Given the description of an element on the screen output the (x, y) to click on. 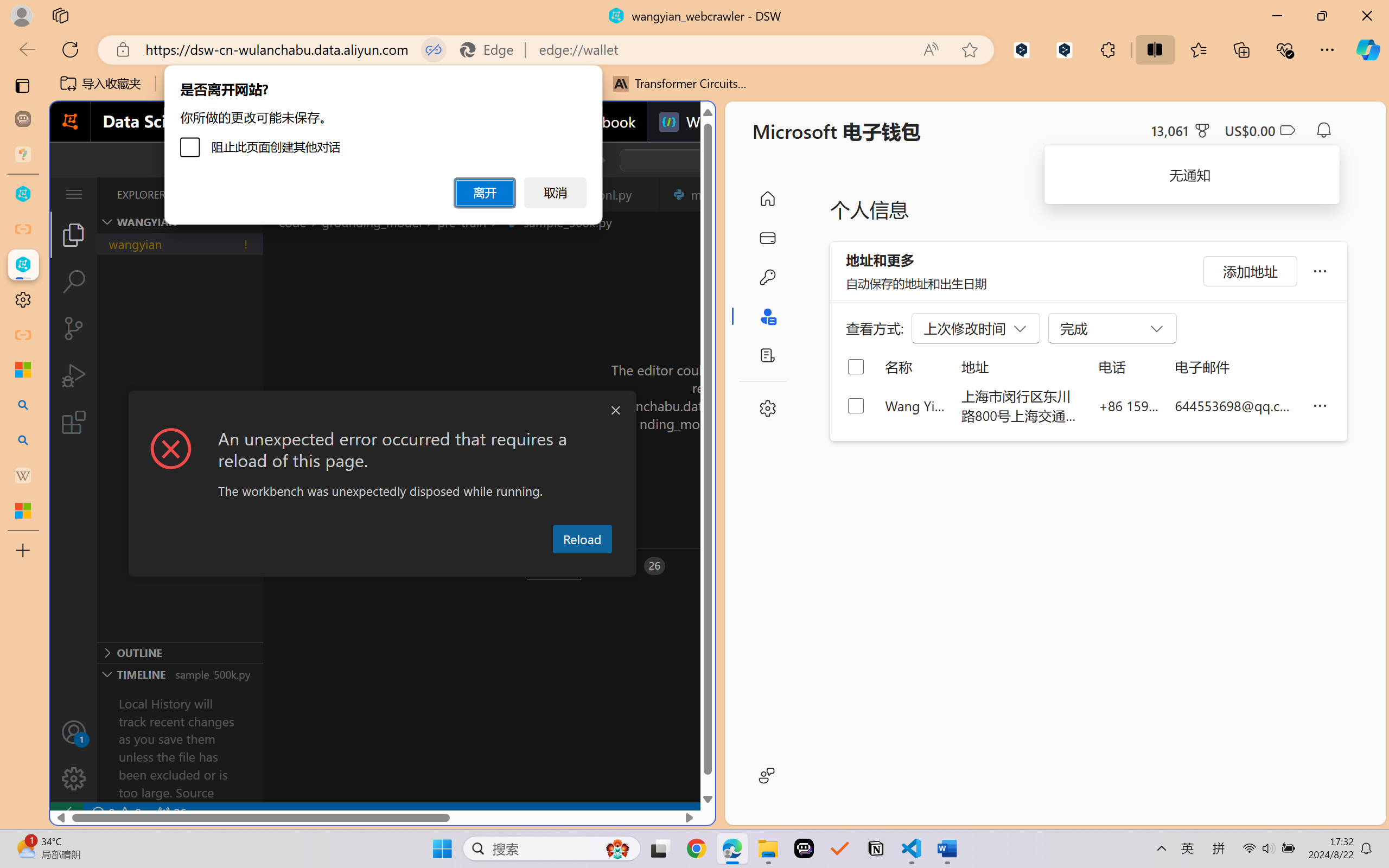
Timeline Section (179, 673)
Accounts - Sign in requested (73, 732)
No Problems (115, 812)
Source Control (Ctrl+Shift+G) (73, 328)
